Given the description of an element on the screen output the (x, y) to click on. 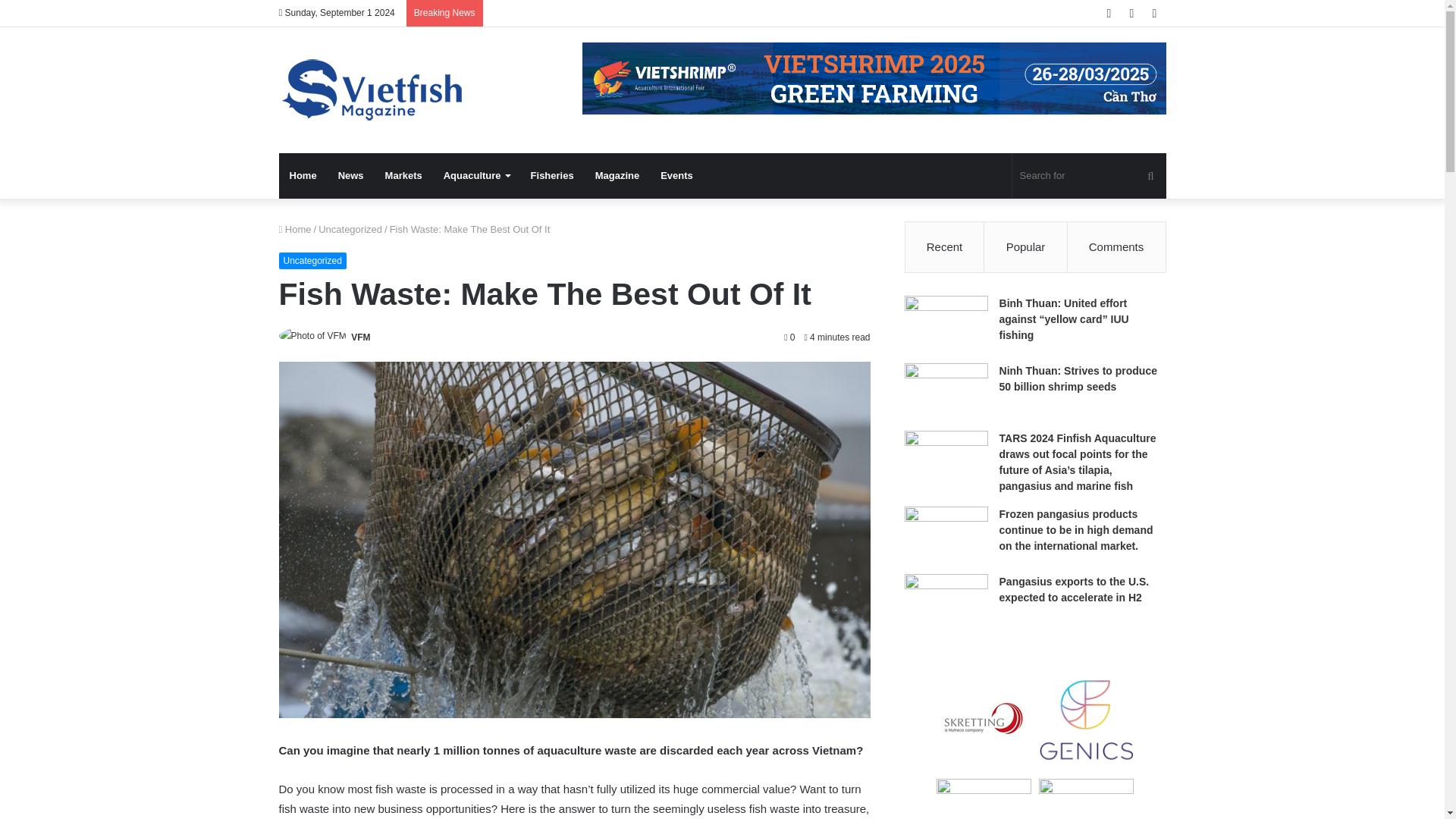
Search for (1088, 176)
Markets (403, 176)
Magazine (617, 176)
Events (676, 176)
Fisheries (552, 176)
Home (303, 176)
Uncategorized (349, 229)
Home (295, 229)
Aquaculture (475, 176)
VFM (359, 337)
